Given the description of an element on the screen output the (x, y) to click on. 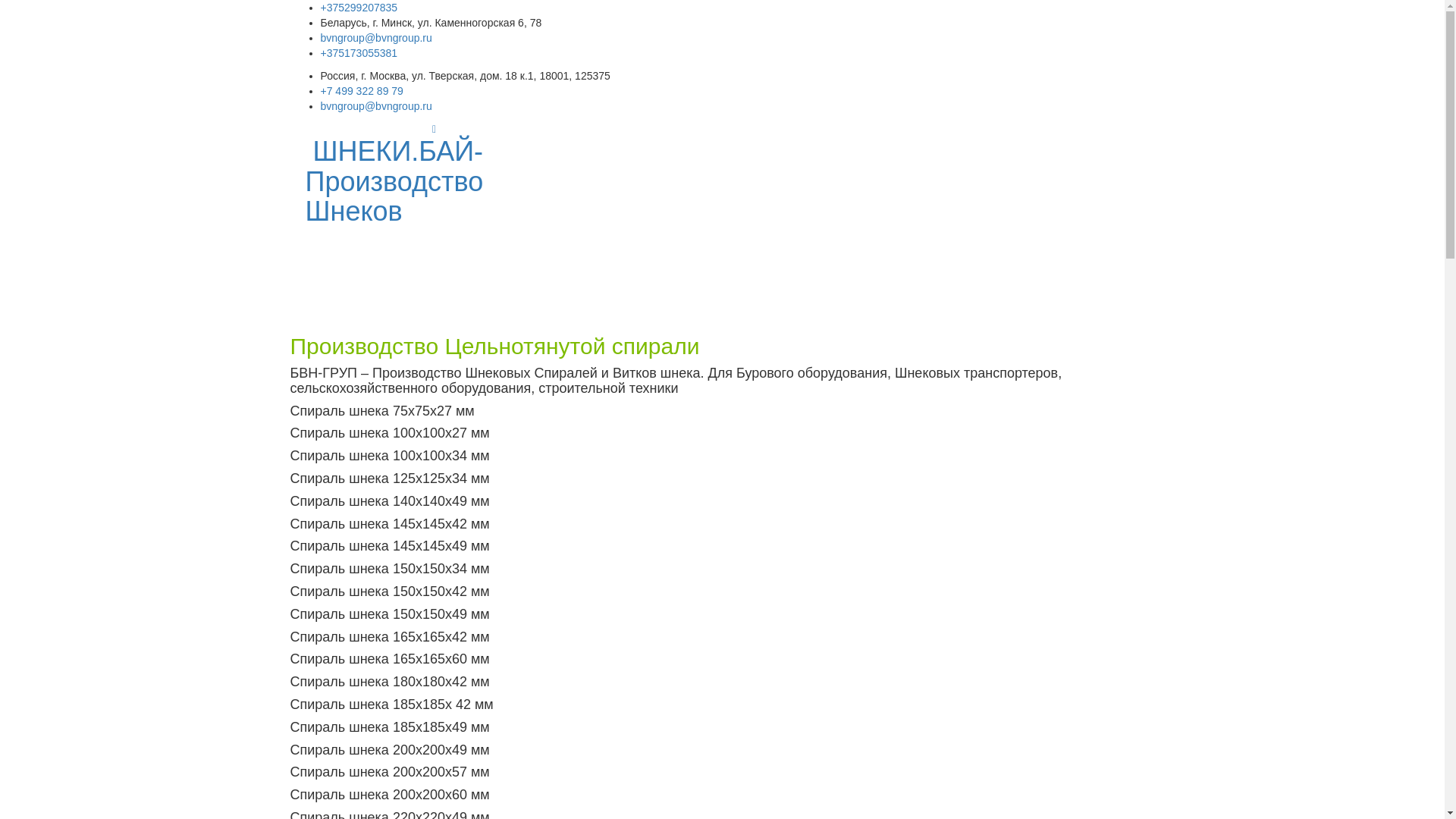
+375173055381 Element type: text (358, 53)
+375299207835 Element type: text (358, 7)
bvngroup@bvngroup.ru Element type: text (375, 37)
bvngroup@bvngroup.ru Element type: text (375, 106)
+7 499 322 89 79 Element type: text (361, 90)
